Given the description of an element on the screen output the (x, y) to click on. 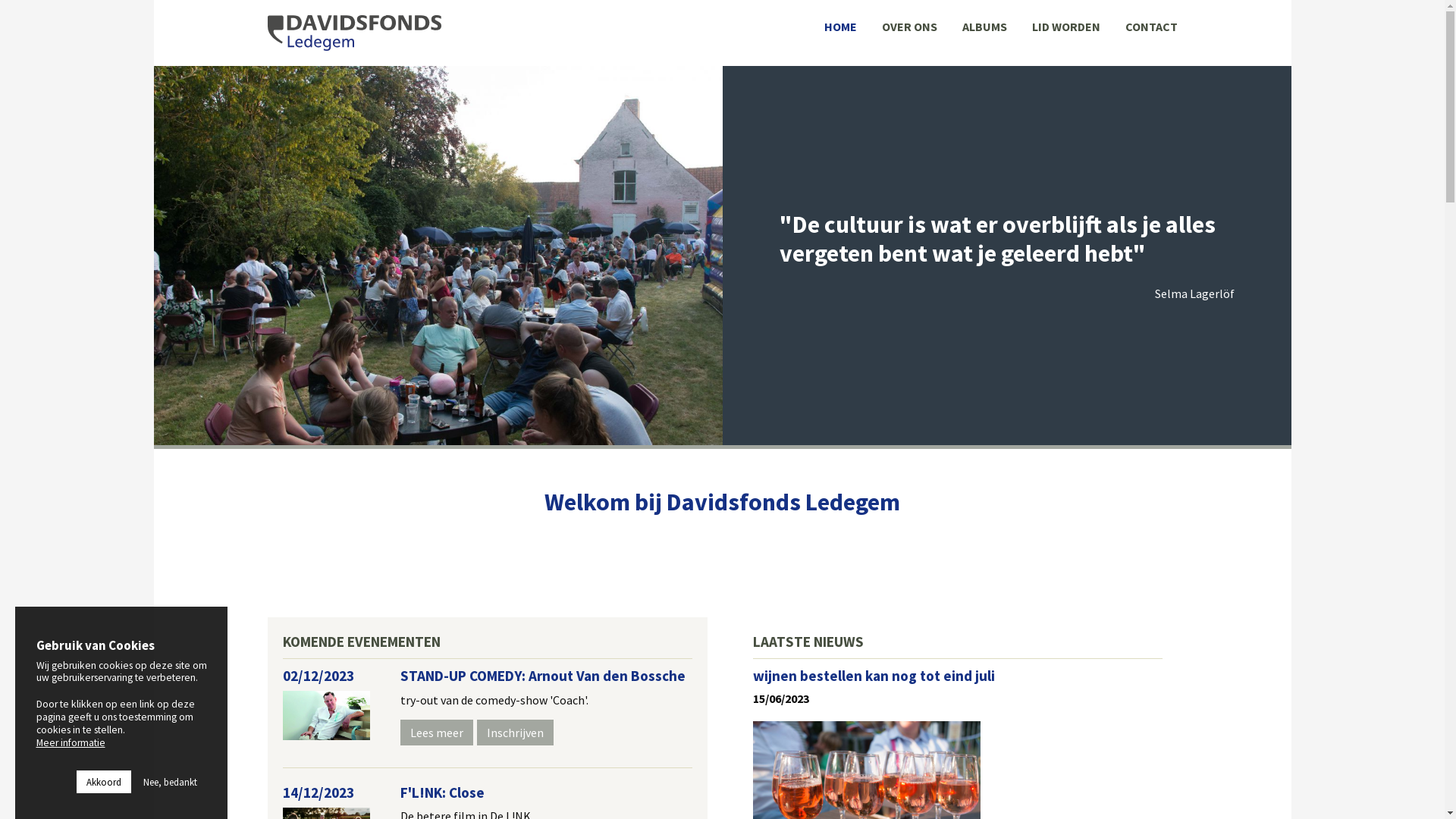
Nee, bedankt Element type: text (169, 781)
Akkoord Element type: text (102, 781)
LID WORDEN Element type: text (1065, 26)
ALBUMS Element type: text (984, 26)
Lees meer Element type: text (436, 732)
Inschrijven Element type: text (514, 732)
Overslaan en naar de inhoud gaan Element type: text (0, 0)
OVER ONS Element type: text (909, 26)
Meer informatie Element type: text (70, 741)
CONTACT Element type: text (1144, 26)
HOME Element type: text (840, 26)
Home Element type: hover (353, 32)
